Given the description of an element on the screen output the (x, y) to click on. 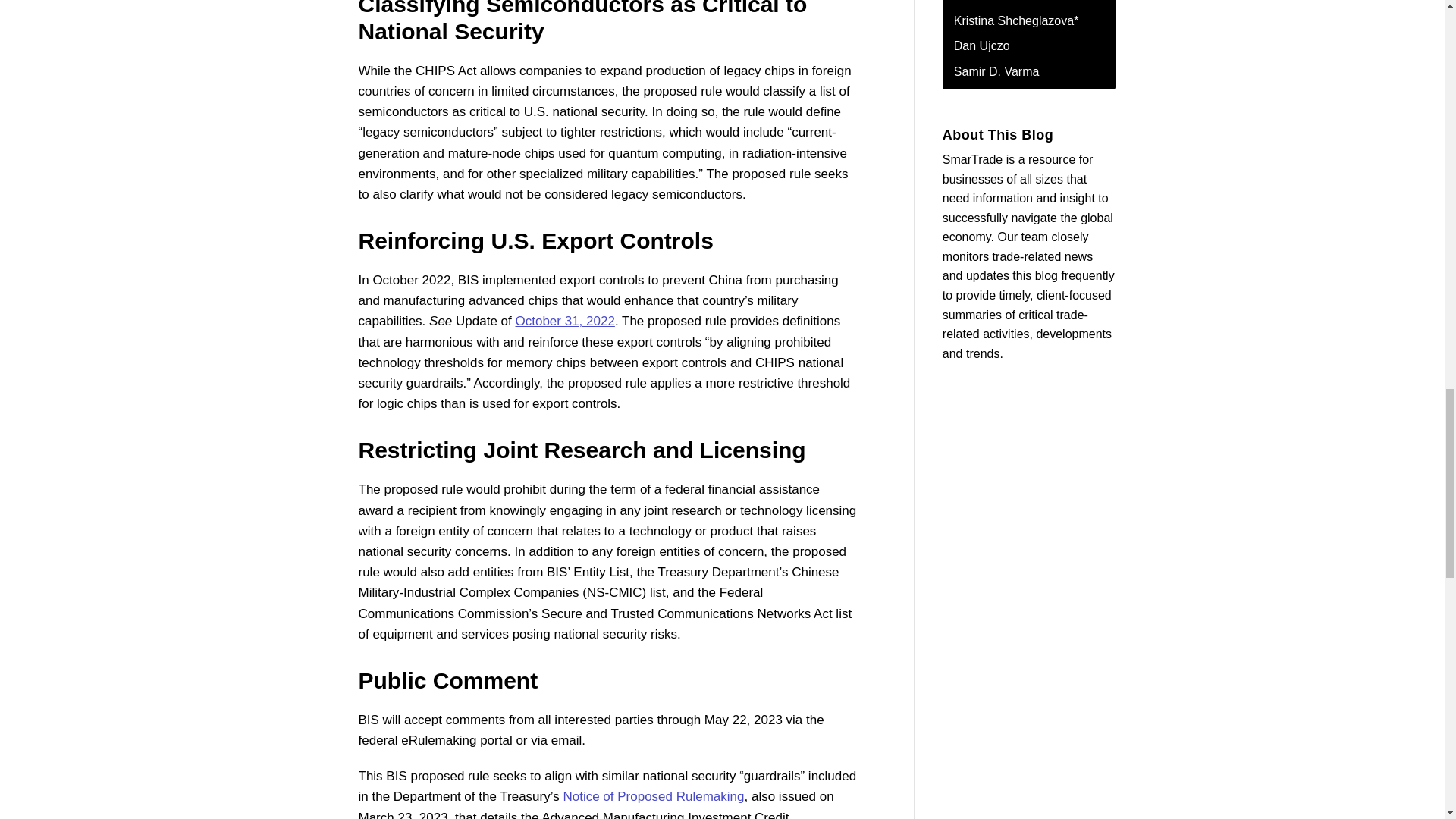
October 31, 2022 (564, 320)
Notice of Proposed Rulemaking (653, 796)
